Given the description of an element on the screen output the (x, y) to click on. 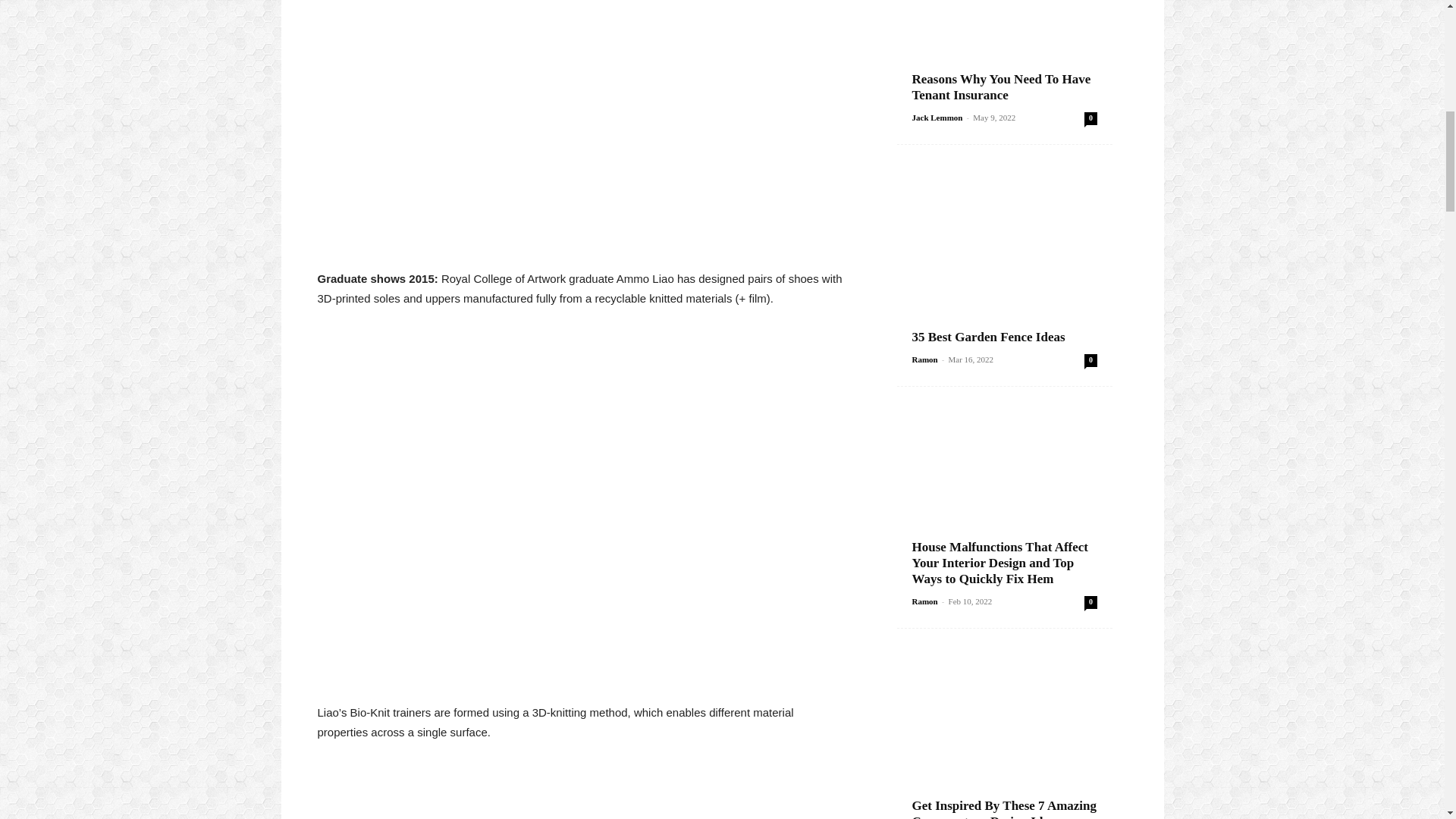
Pin It (580, 82)
